Given the description of an element on the screen output the (x, y) to click on. 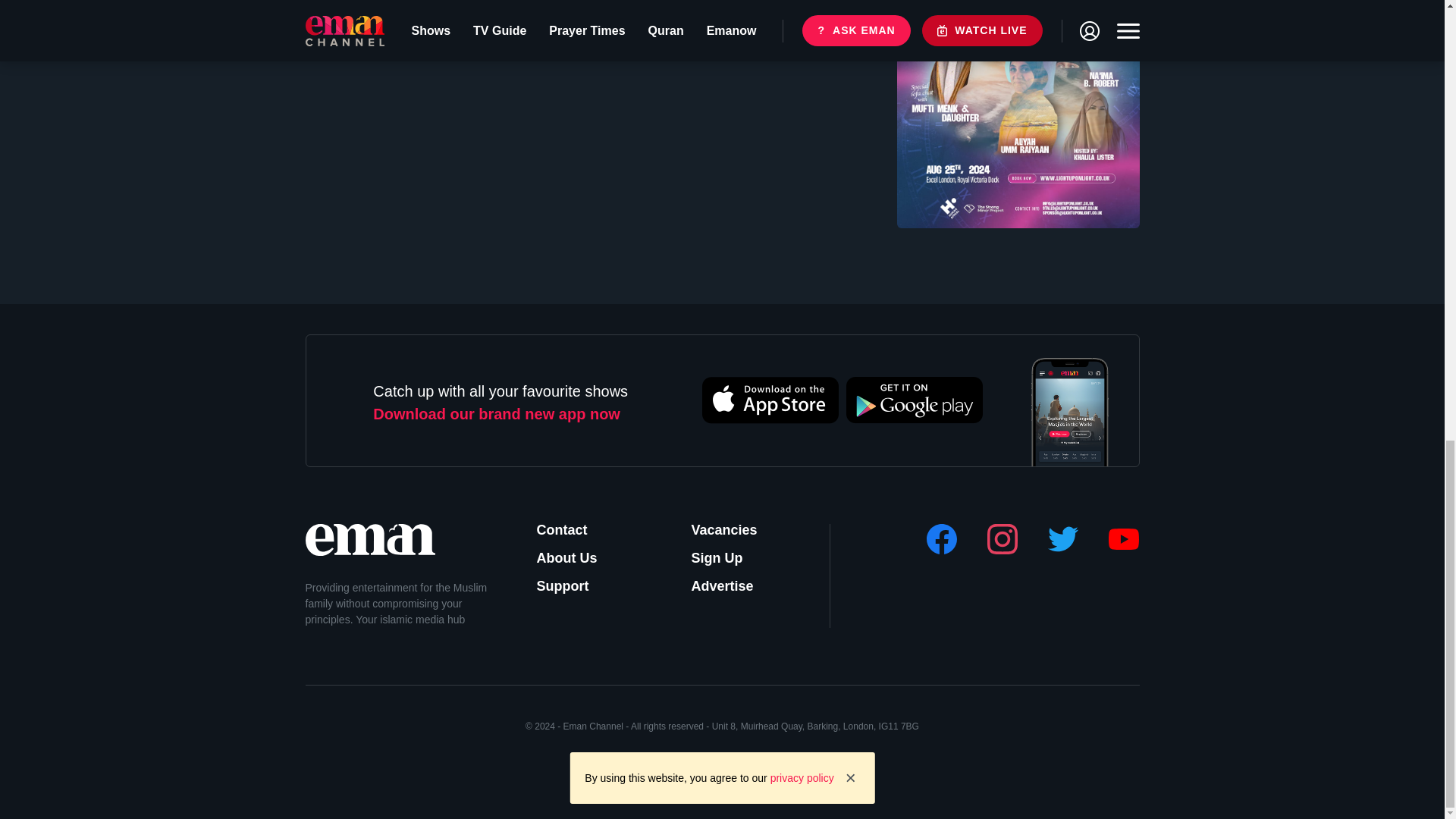
About Us (573, 557)
Support (573, 586)
Contact (573, 530)
Vacancies (727, 530)
